Given the description of an element on the screen output the (x, y) to click on. 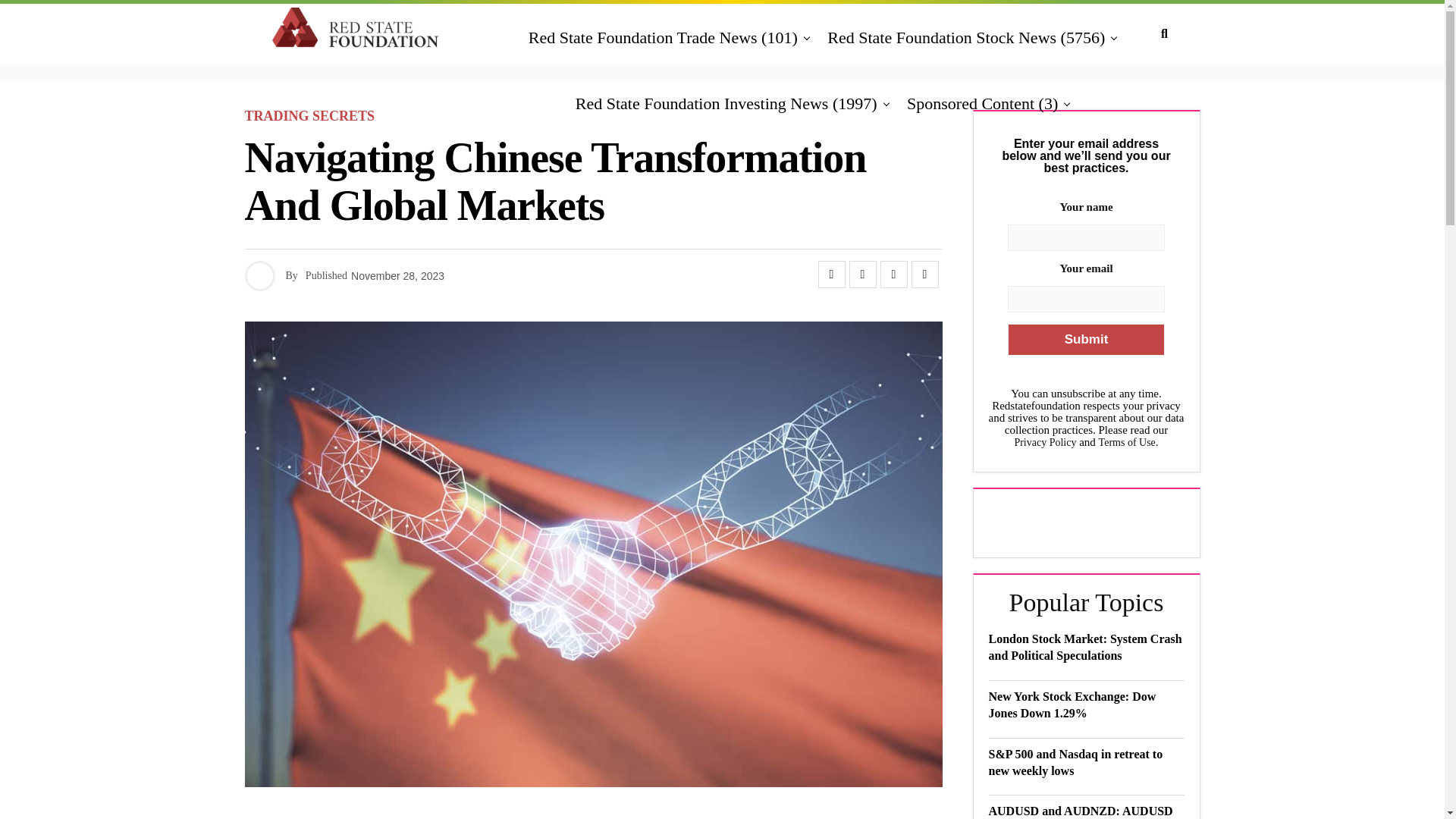
Submit (1085, 339)
Tweet This Post (862, 274)
TRADING SECRETS (309, 115)
Share on Facebook (830, 274)
